Given the description of an element on the screen output the (x, y) to click on. 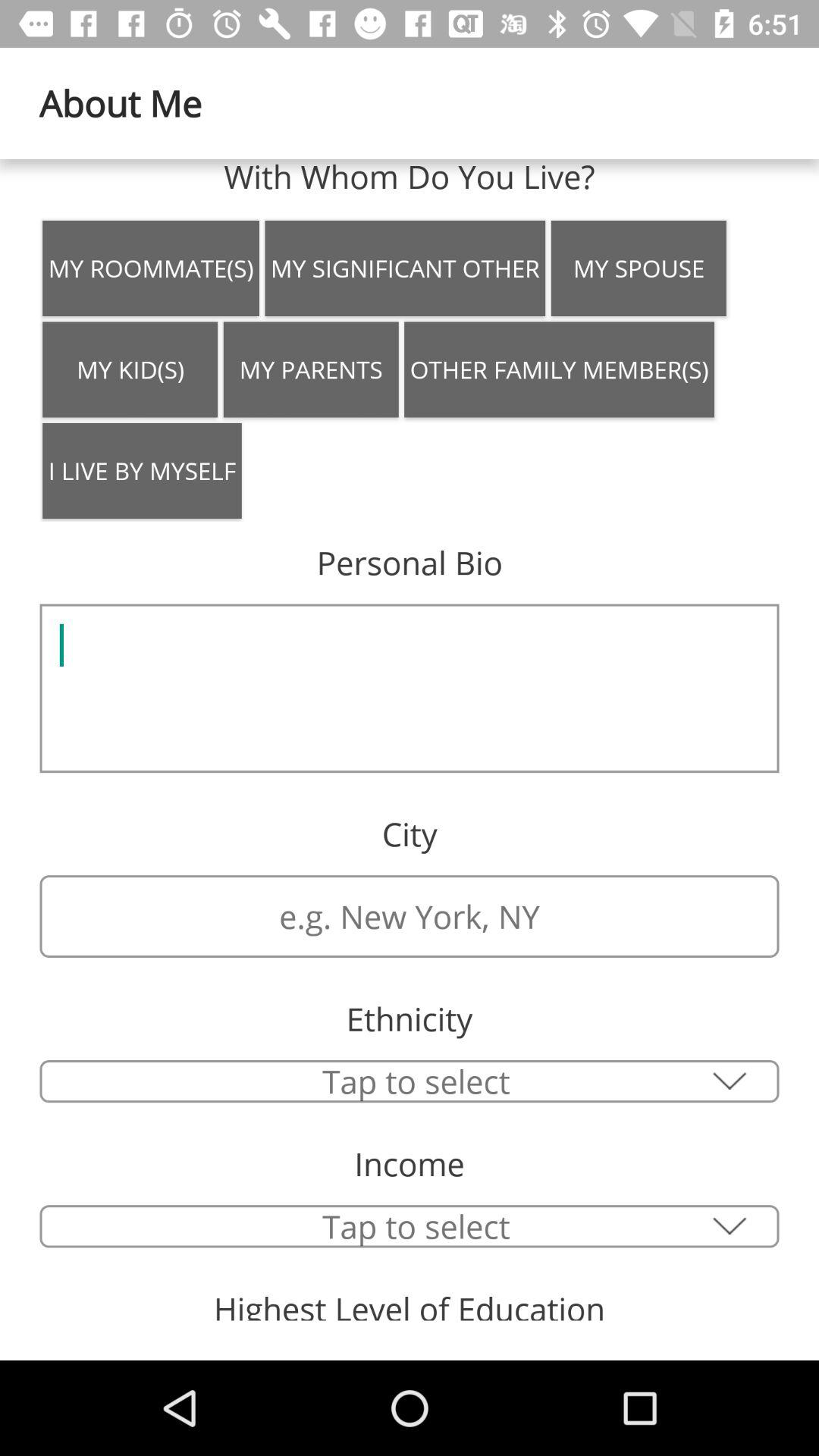
scroll to my significant other icon (405, 268)
